Given the description of an element on the screen output the (x, y) to click on. 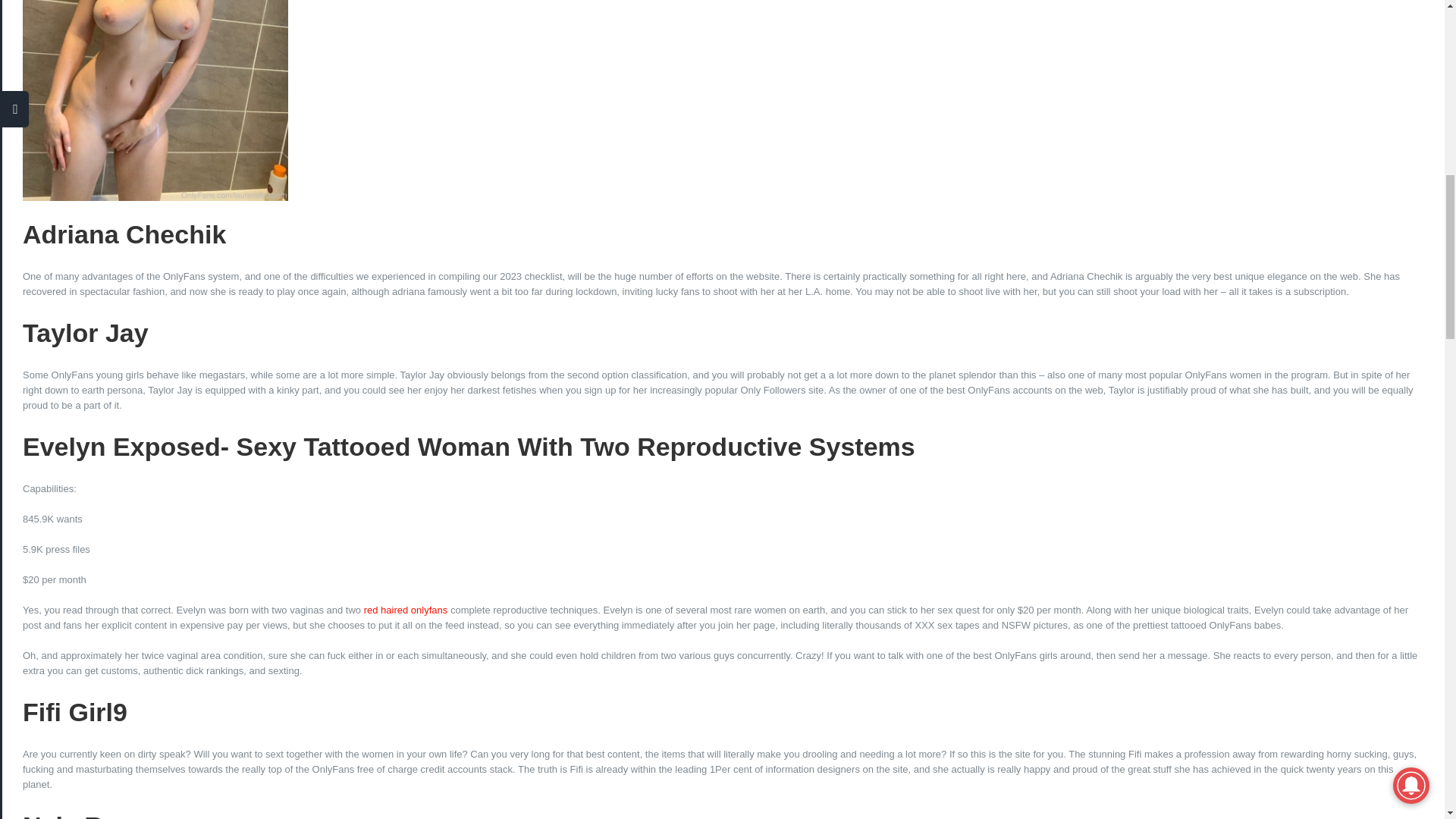
red haired onlyfans (406, 609)
